Given the description of an element on the screen output the (x, y) to click on. 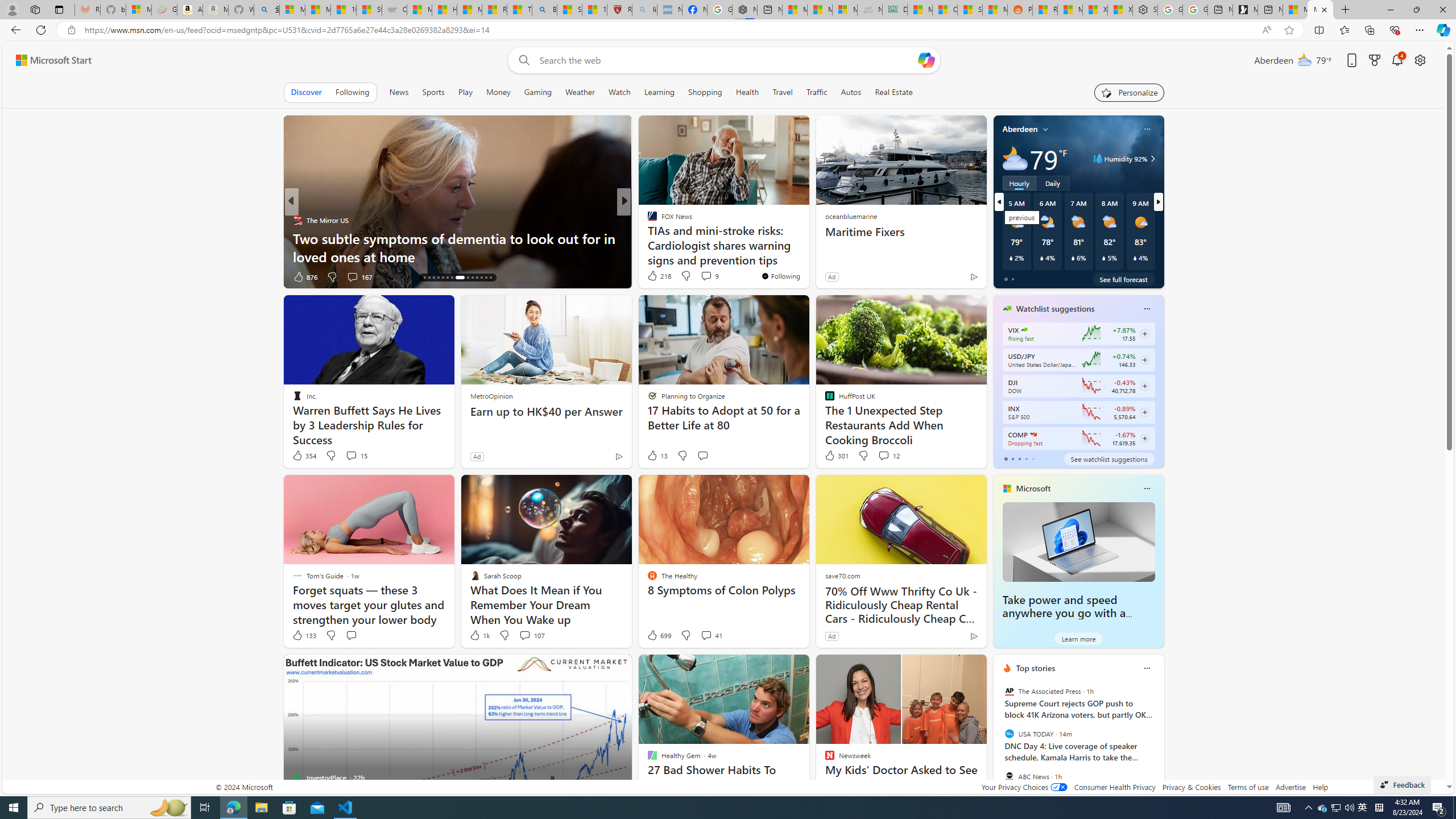
Take power and speed anywhere you go with a Windows laptop. (1077, 541)
How I Got Rid of Microsoft Edge's Unnecessary Features (443, 9)
Take power and speed anywhere you go with a Windows laptop. (1063, 613)
Traffic (816, 92)
AutomationID: tab-26 (481, 277)
Your Privacy Choices (1024, 786)
oceanbluemarine (850, 215)
